Given the description of an element on the screen output the (x, y) to click on. 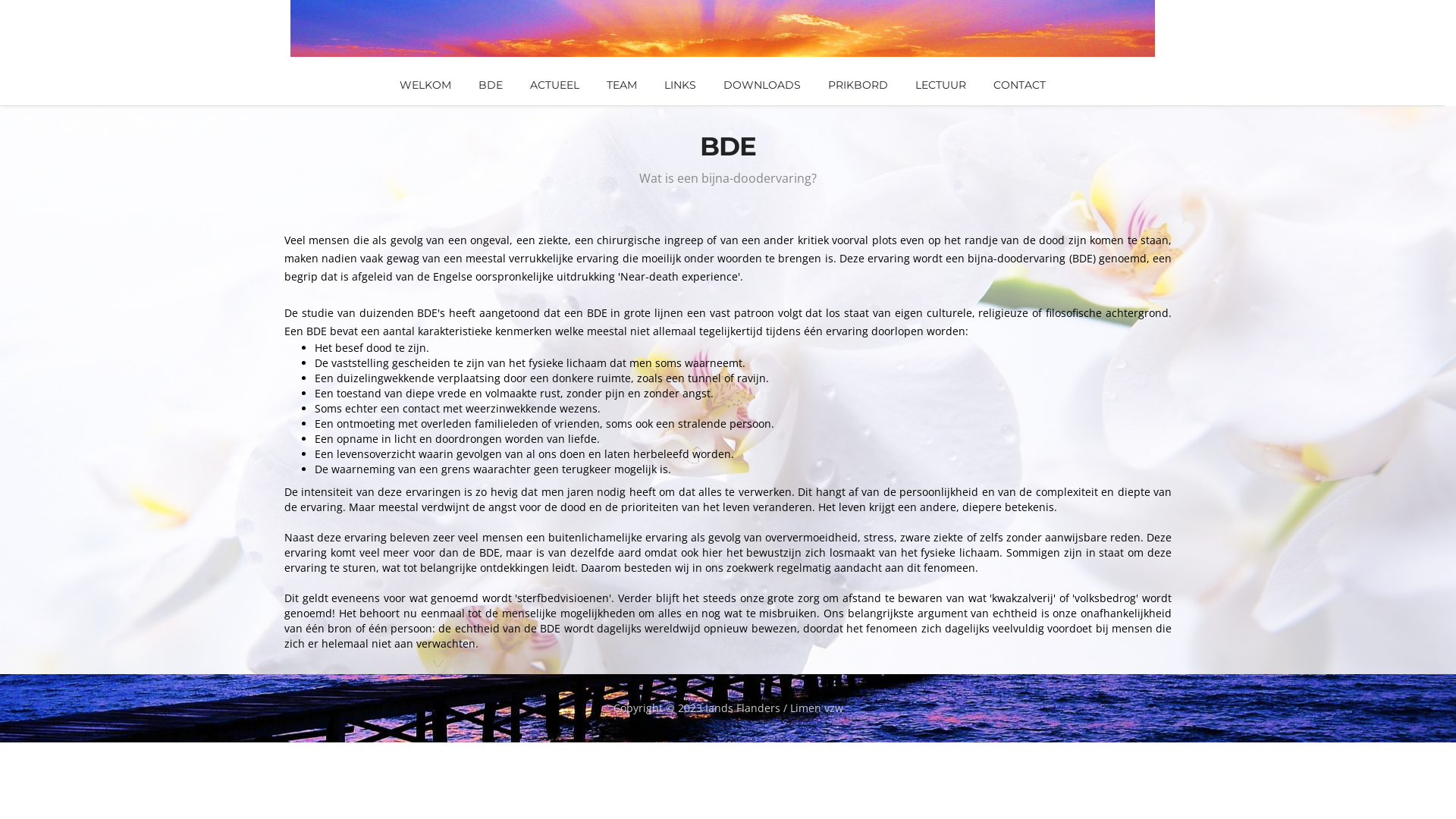
WELKOM Element type: text (424, 84)
BDE Element type: text (489, 84)
PRIKBORD Element type: text (858, 84)
TEAM Element type: text (621, 84)
ACTUEEL Element type: text (553, 84)
CONTACT Element type: text (1019, 84)
DOWNLOADS Element type: text (761, 84)
LINKS Element type: text (680, 84)
LECTUUR Element type: text (939, 84)
